Given the description of an element on the screen output the (x, y) to click on. 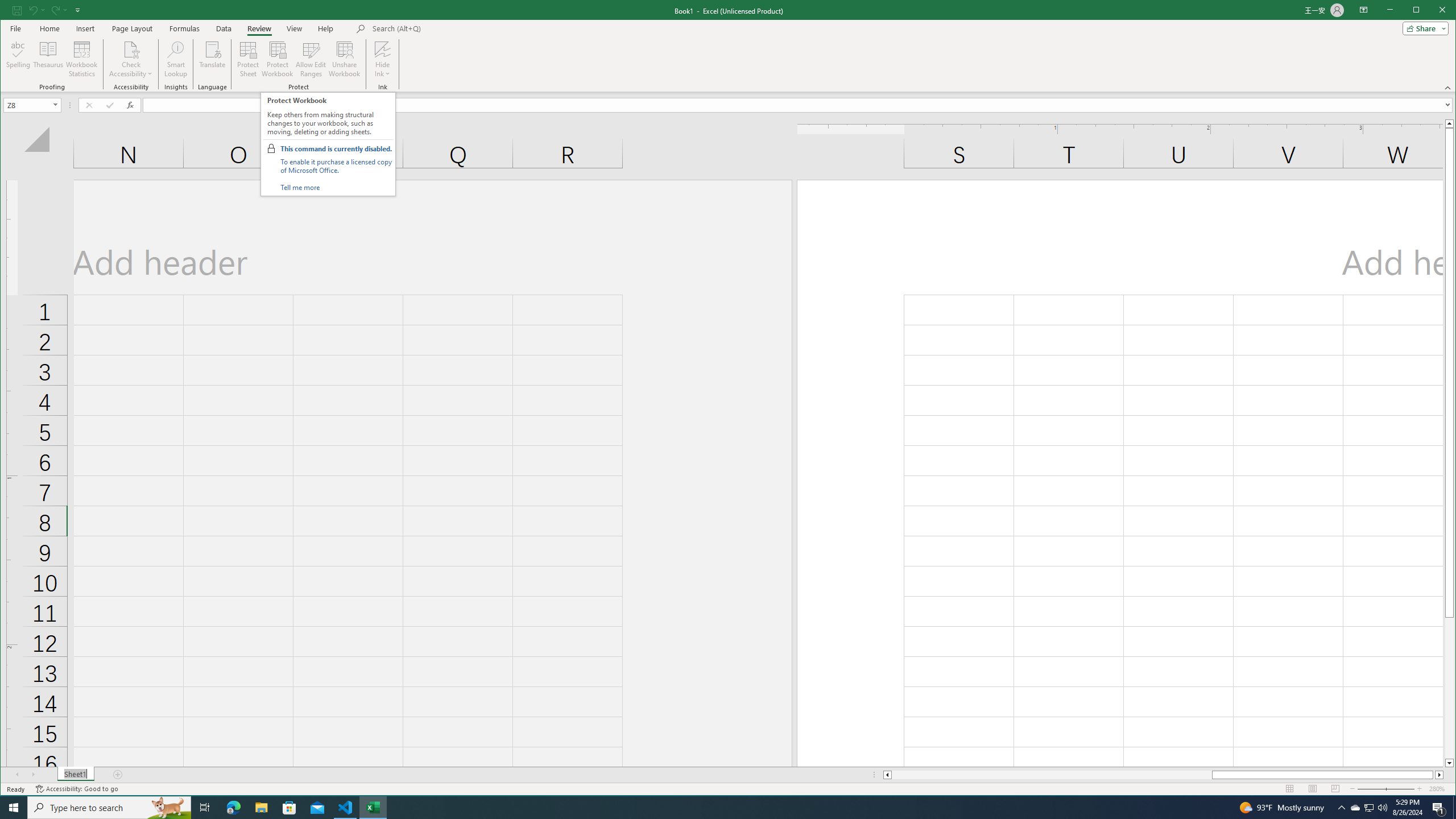
Microsoft search (451, 28)
User Promoted Notification Area (1368, 807)
This command is currently disabled. (336, 148)
File Tab (15, 27)
Check Accessibility (130, 48)
Class: NetUIImage (270, 148)
Allow Edit Ranges (310, 59)
Translate (212, 59)
Formula Bar (799, 104)
Add Sheet (118, 774)
Workbook Statistics (82, 59)
